Given the description of an element on the screen output the (x, y) to click on. 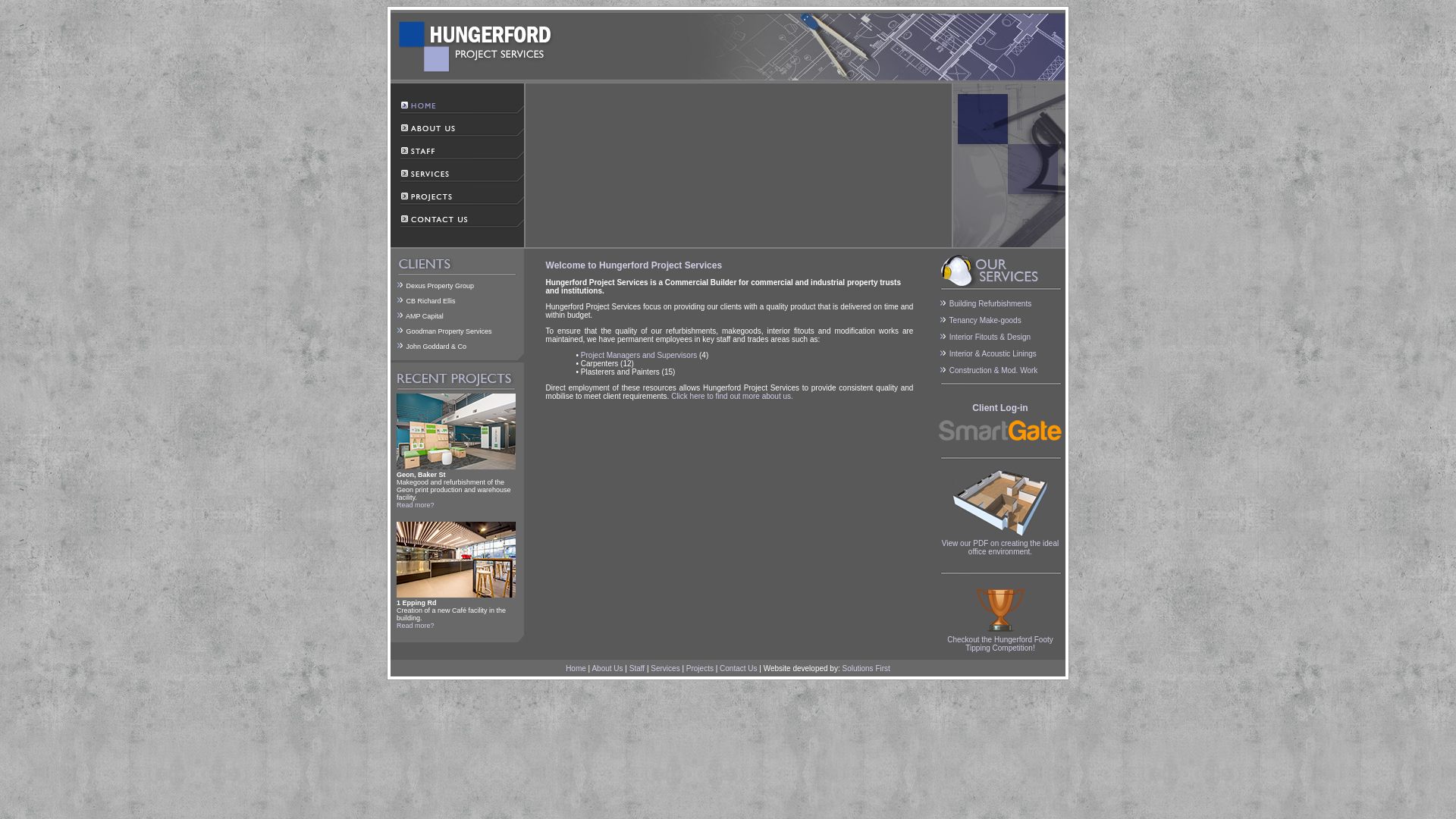
Solutions First Element type: text (865, 668)
Interior & Acoustic Linings Element type: text (992, 353)
Read more? Element type: text (415, 625)
View our PDF on creating the ideal office environment. Element type: text (999, 548)
Interior Fitouts & Design Element type: text (989, 336)
Read more? Element type: text (415, 504)
Click here to find out more about us. Element type: text (732, 396)
Project Managers and Supervisors Element type: text (638, 355)
Checkout the Hungerford Footy Tipping Competition! Element type: text (1000, 640)
About Us Element type: text (606, 668)
Home Element type: text (575, 668)
Contact Us Element type: text (737, 668)
Construction & Mod. Work Element type: text (993, 370)
Projects Element type: text (699, 668)
Building Refurbishments Element type: text (990, 303)
Staff Element type: text (636, 668)
Tenancy Make-goods Element type: text (985, 320)
Services Element type: text (664, 668)
Client Log-in Element type: text (999, 421)
